Given the description of an element on the screen output the (x, y) to click on. 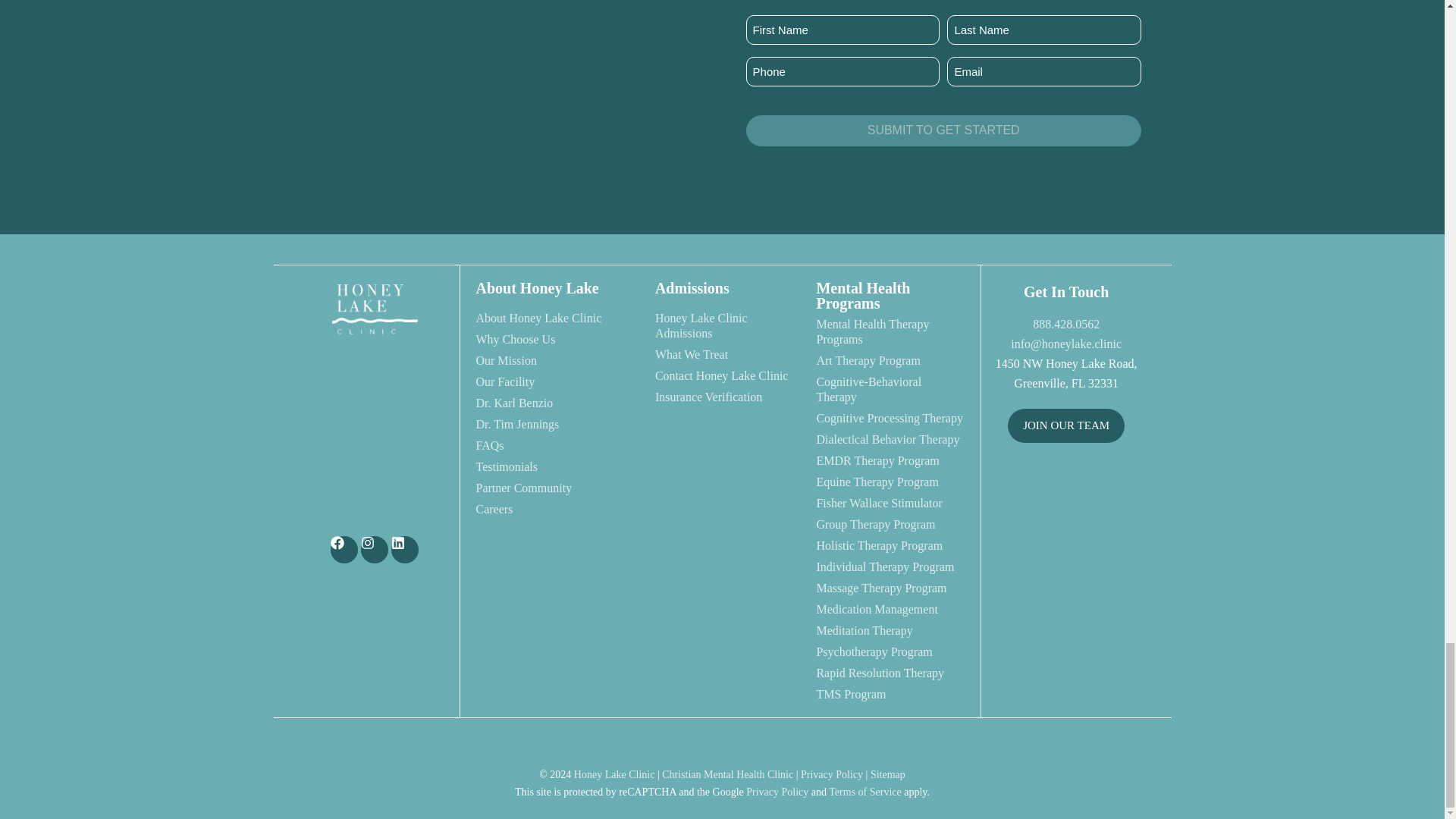
Tagline (374, 426)
Honey Lake Logo White (373, 309)
Honey Lake, 1450 NW Honey Lake Road, Greenville, FL 32331 (1066, 514)
SUBMIT TO GET STARTED (943, 131)
